Given the description of an element on the screen output the (x, y) to click on. 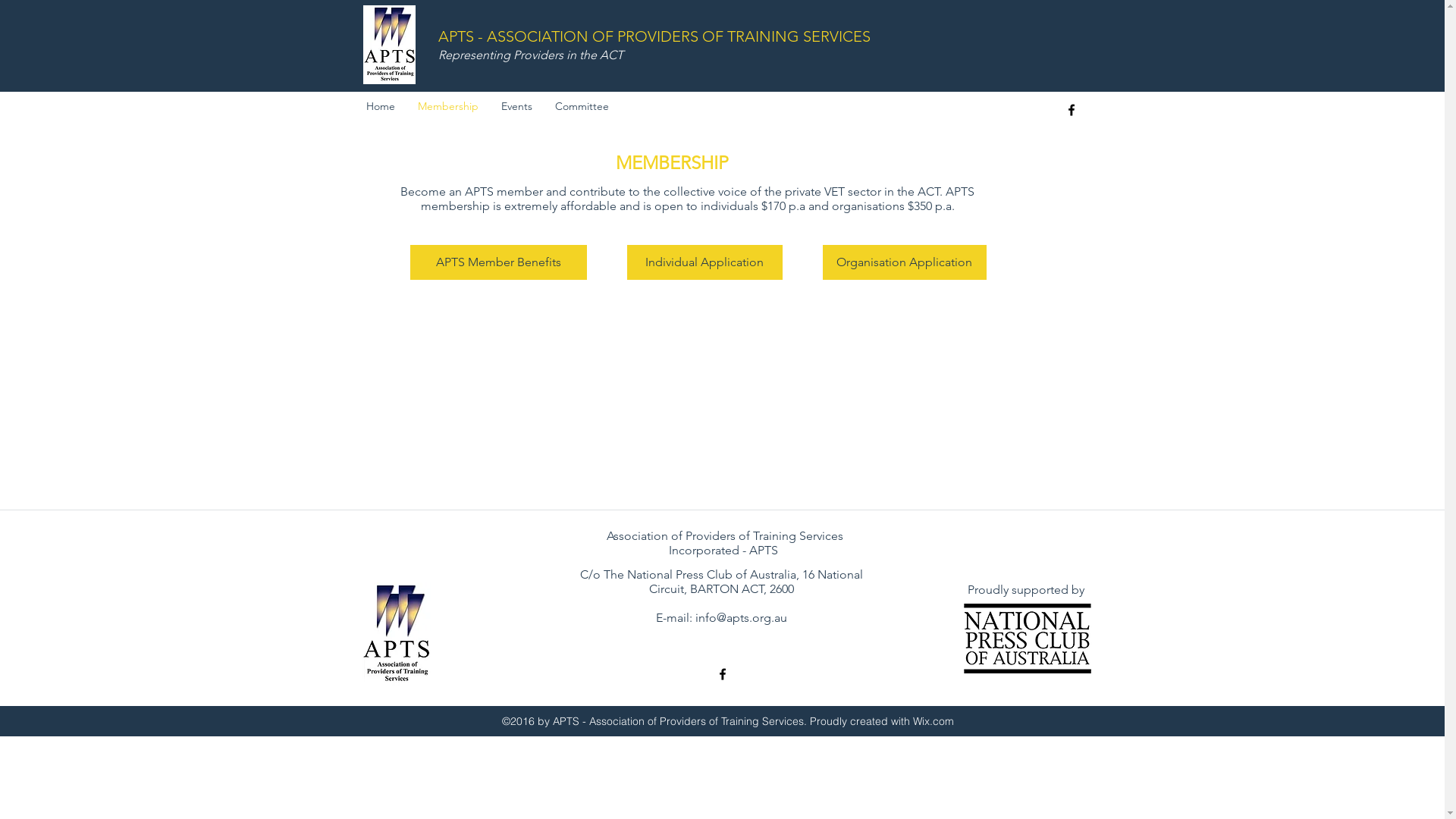
Home Element type: text (380, 105)
info@apts.org.au Element type: text (741, 617)
Individual Application Element type: text (703, 261)
Events Element type: text (516, 105)
Committee Element type: text (580, 105)
APTS Member Benefits Element type: text (497, 261)
Organisation Application Element type: text (903, 261)
Membership Element type: text (447, 105)
